Given the description of an element on the screen output the (x, y) to click on. 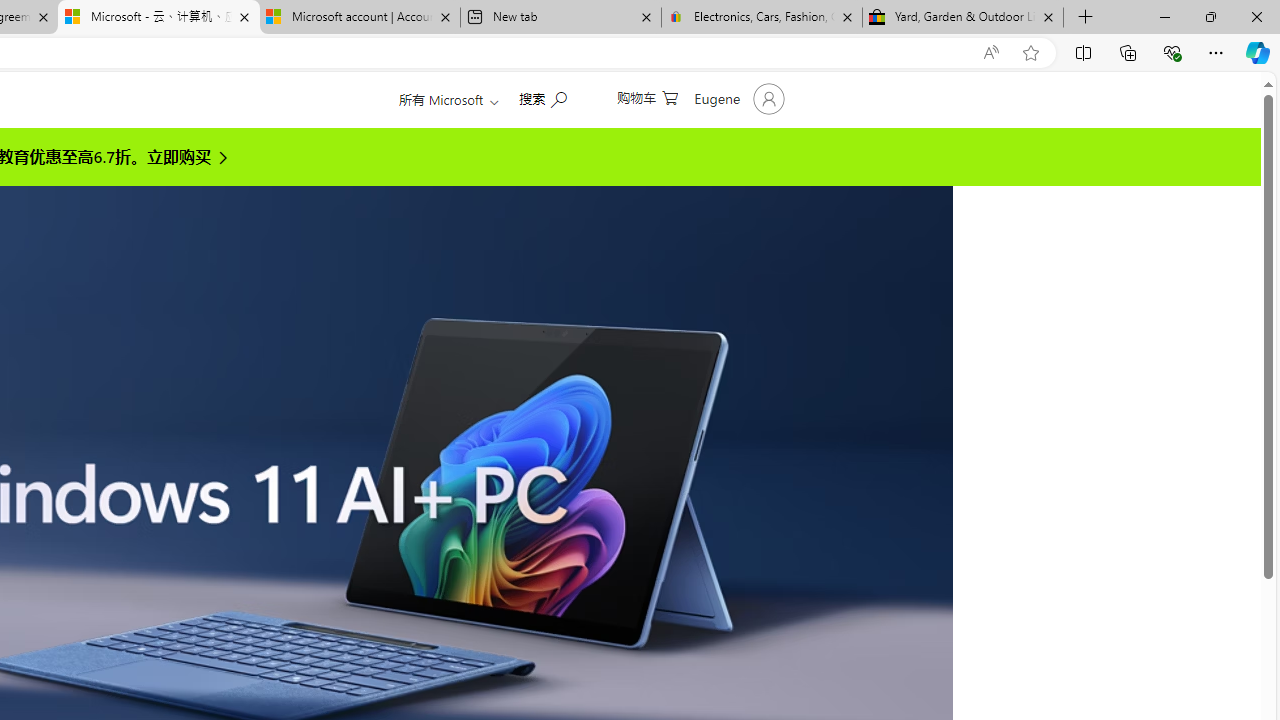
Electronics, Cars, Fashion, Collectibles & More | eBay (761, 17)
New tab (560, 17)
Microsoft account | Account Checkup (359, 17)
Yard, Garden & Outdoor Living (962, 17)
